Given the description of an element on the screen output the (x, y) to click on. 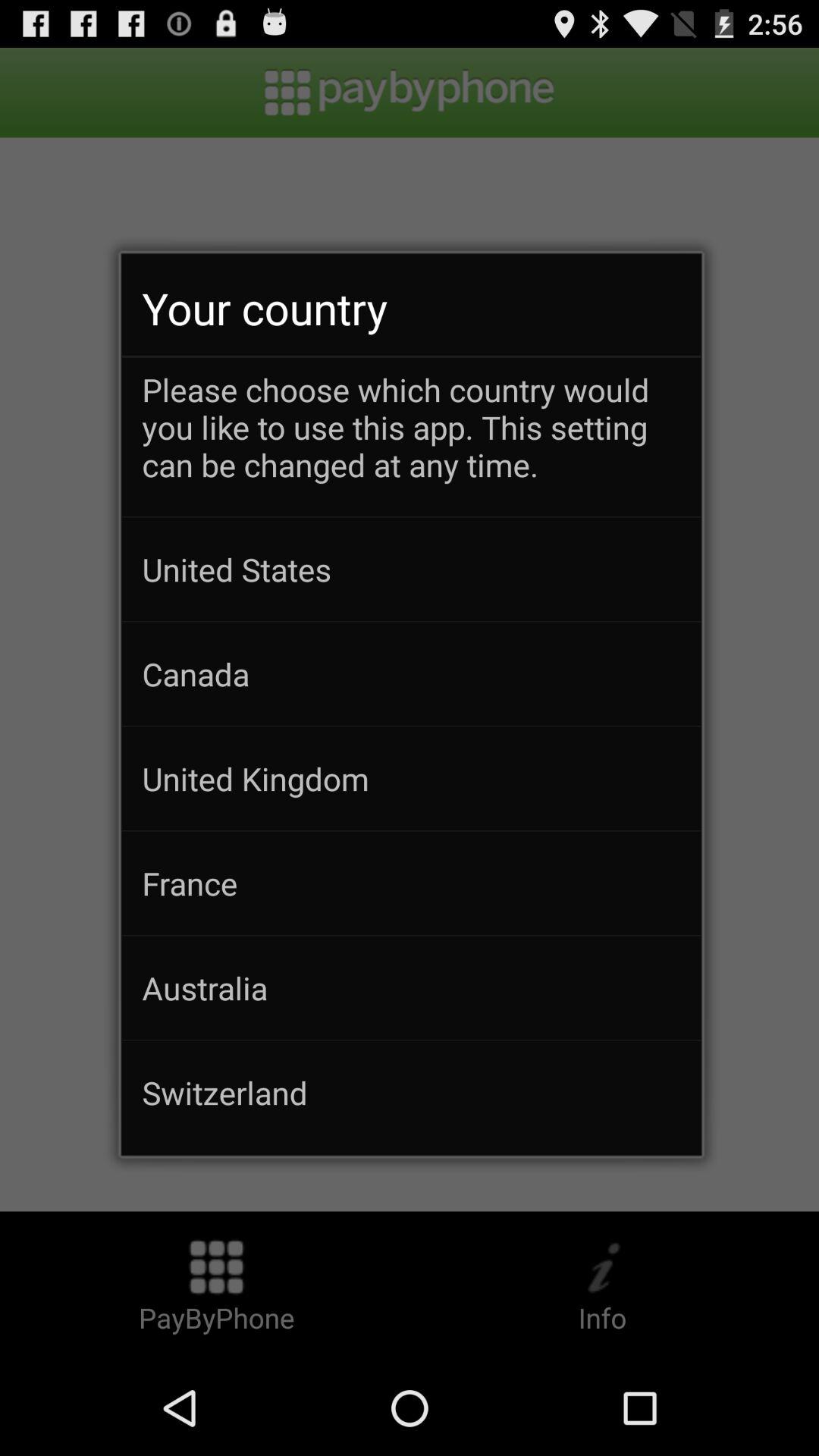
swipe to united kingdom app (411, 778)
